Given the description of an element on the screen output the (x, y) to click on. 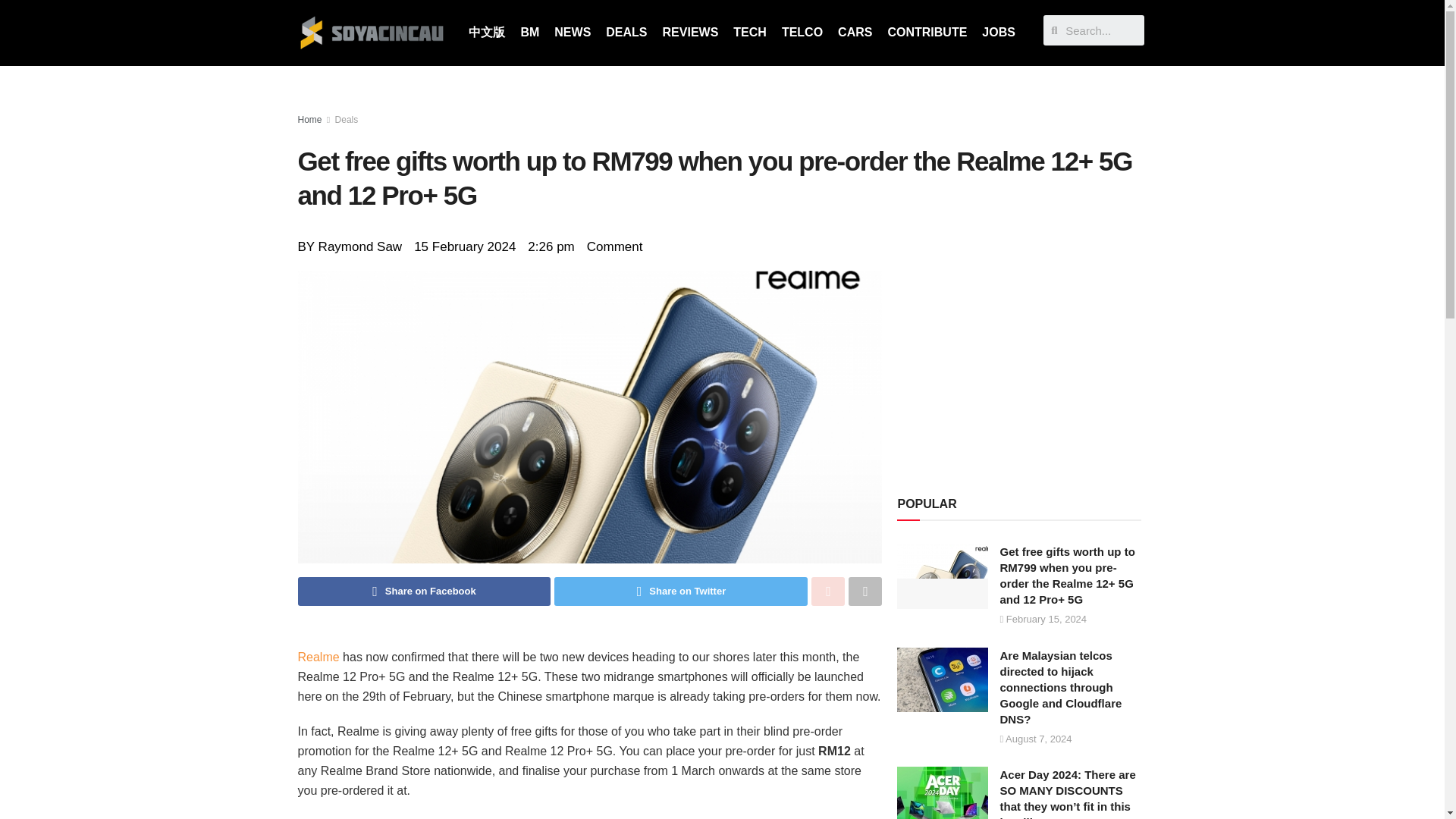
TECH (749, 32)
DEALS (625, 32)
Search (1101, 30)
JOBS (998, 32)
REVIEWS (690, 32)
CARS (854, 32)
NEWS (572, 32)
TELCO (801, 32)
CONTRIBUTE (926, 32)
BM (529, 32)
